Given the description of an element on the screen output the (x, y) to click on. 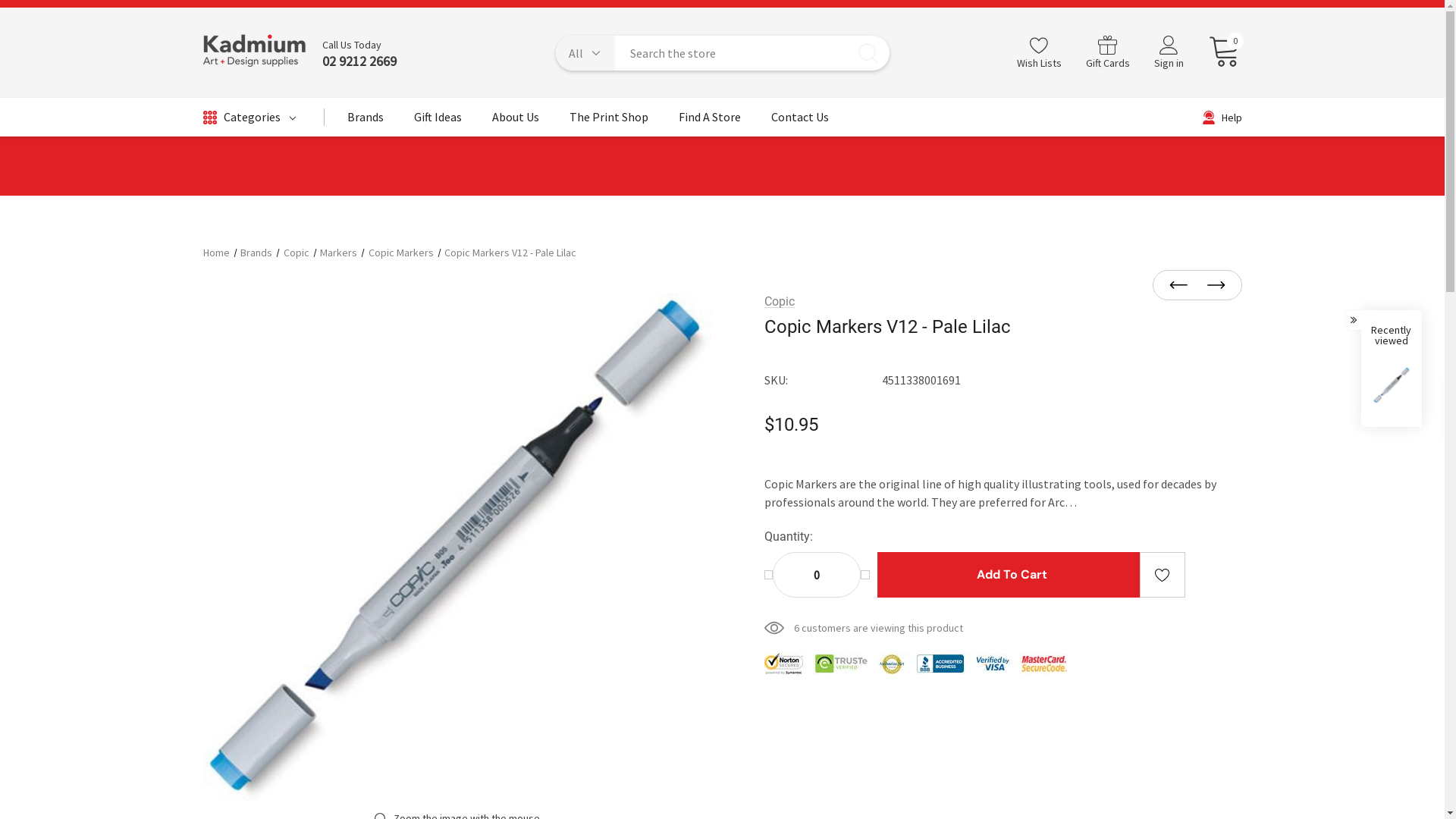
The Print Shop Element type: text (607, 120)
Categories Element type: text (249, 117)
Decrease Quantity: Element type: text (768, 574)
Call Us Today
02 9212 2669 Element type: text (350, 52)
Brands Element type: text (256, 252)
Find A Store Element type: text (708, 120)
Contact Us Element type: text (799, 120)
Kadmium | Art + Design supplies Element type: hover (255, 52)
Home Element type: text (216, 252)
Sign in Element type: text (1168, 53)
Wish Lists Element type: text (1038, 53)
Markers Element type: text (338, 252)
Gift Ideas Element type: text (437, 120)
Increase Quantity: Element type: text (864, 574)
Help Element type: text (1222, 117)
Copic Markers V12 - Pale Lilac Element type: hover (457, 546)
Copic Element type: text (296, 252)
About Us Element type: text (514, 120)
Brands Element type: text (365, 120)
Copic Element type: text (779, 301)
Add to Cart Element type: text (1011, 574)
0 Element type: text (1218, 52)
Copic Markers Element type: text (400, 252)
Copic Markers V12 - Pale Lilac Element type: text (510, 252)
Gift Cards Element type: text (1107, 53)
